Given the description of an element on the screen output the (x, y) to click on. 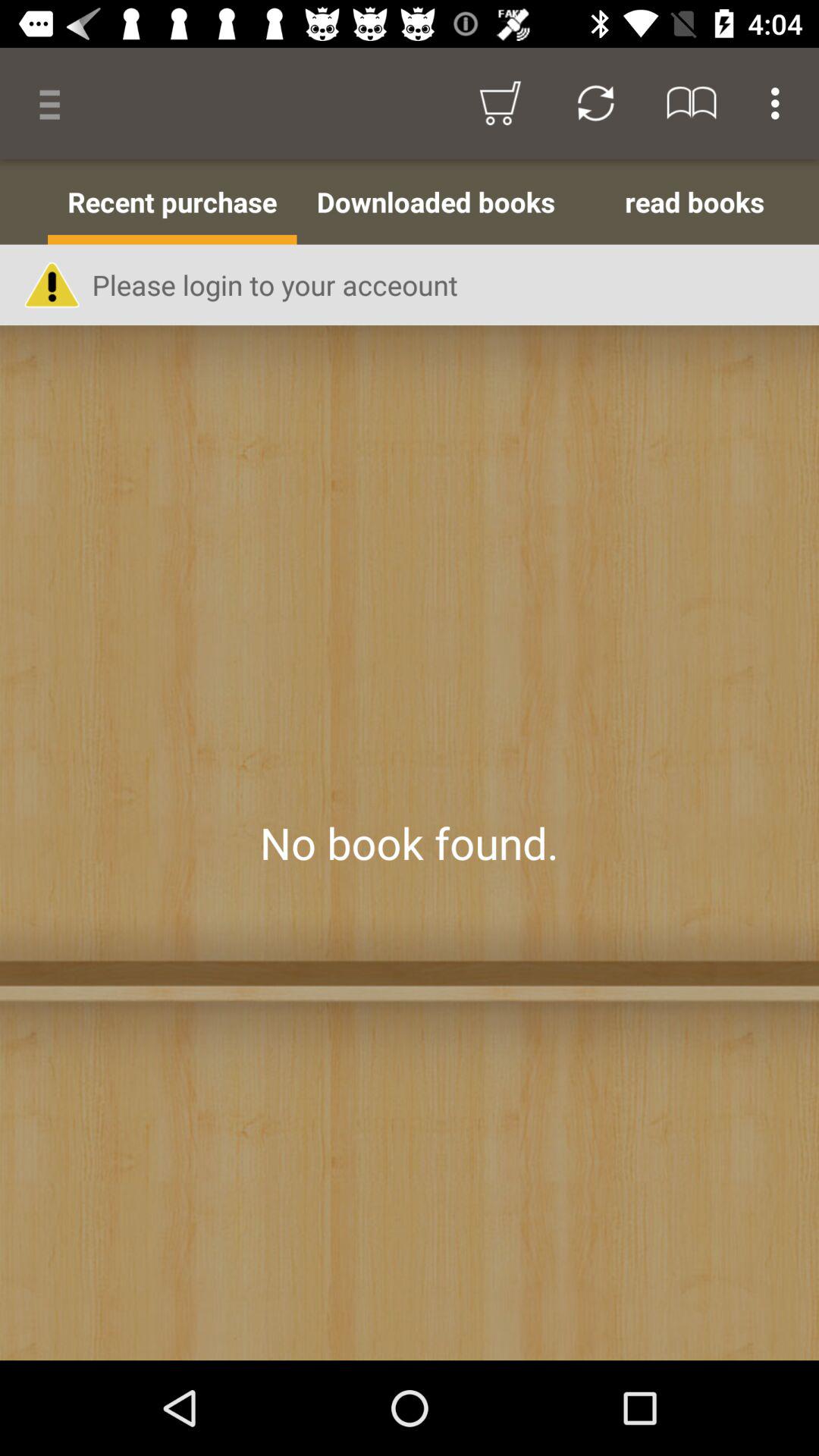
click the item to the left of the downloaded books (171, 201)
